Given the description of an element on the screen output the (x, y) to click on. 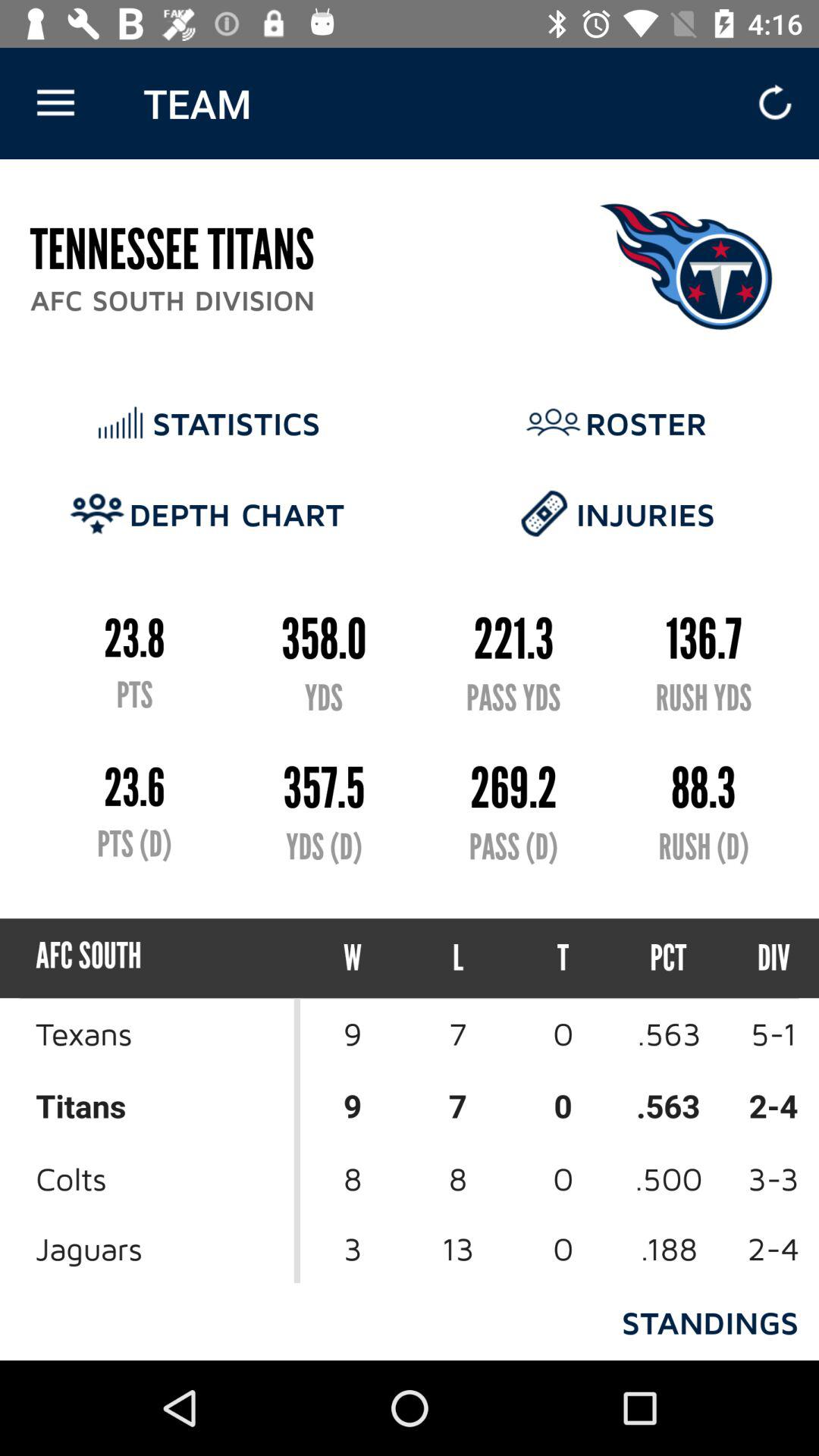
press the item to the left of the pct (562, 958)
